Given the description of an element on the screen output the (x, y) to click on. 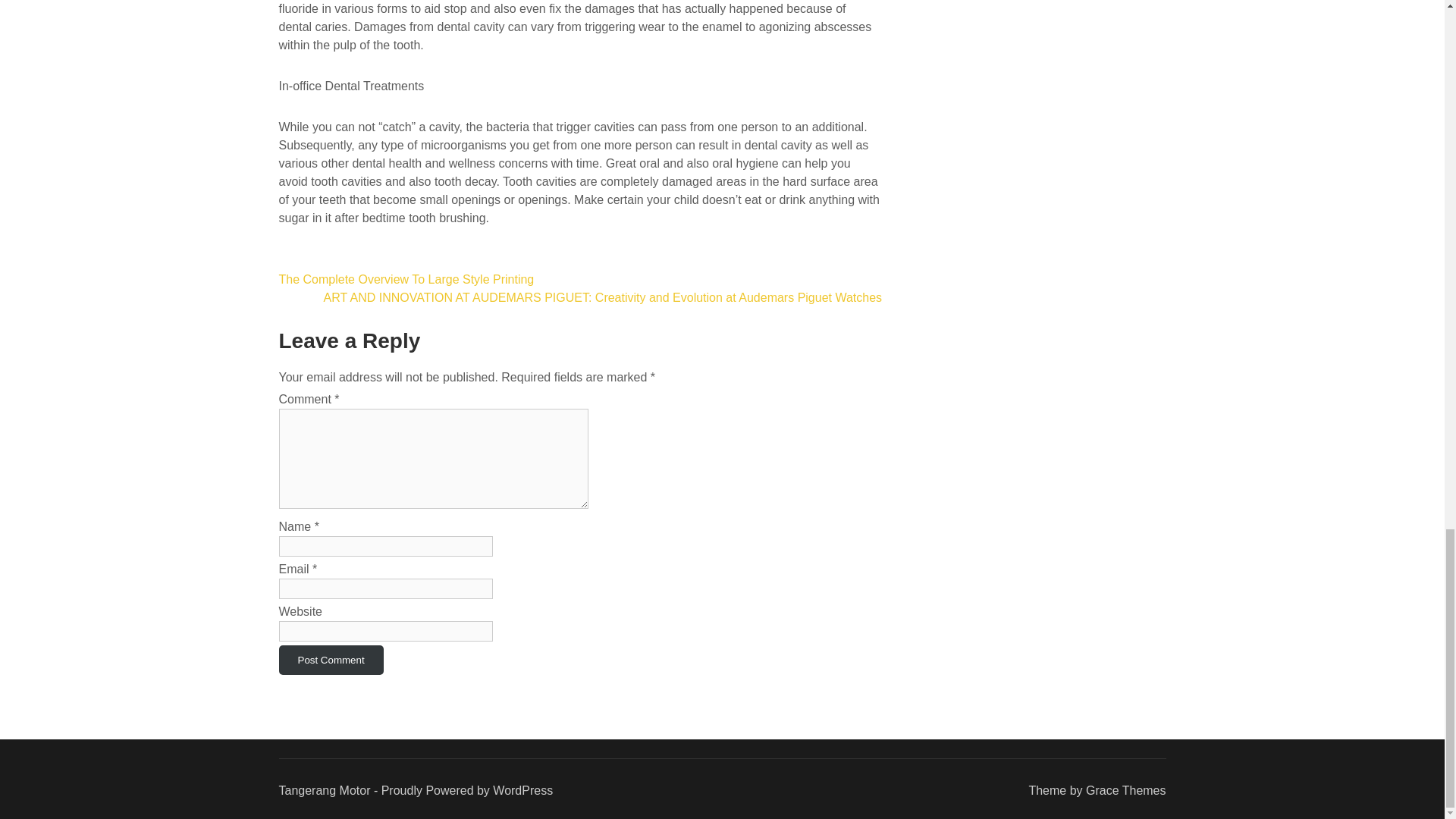
Post Comment (331, 659)
Post Comment (331, 659)
The Complete Overview To Large Style Printing (406, 278)
